Given the description of an element on the screen output the (x, y) to click on. 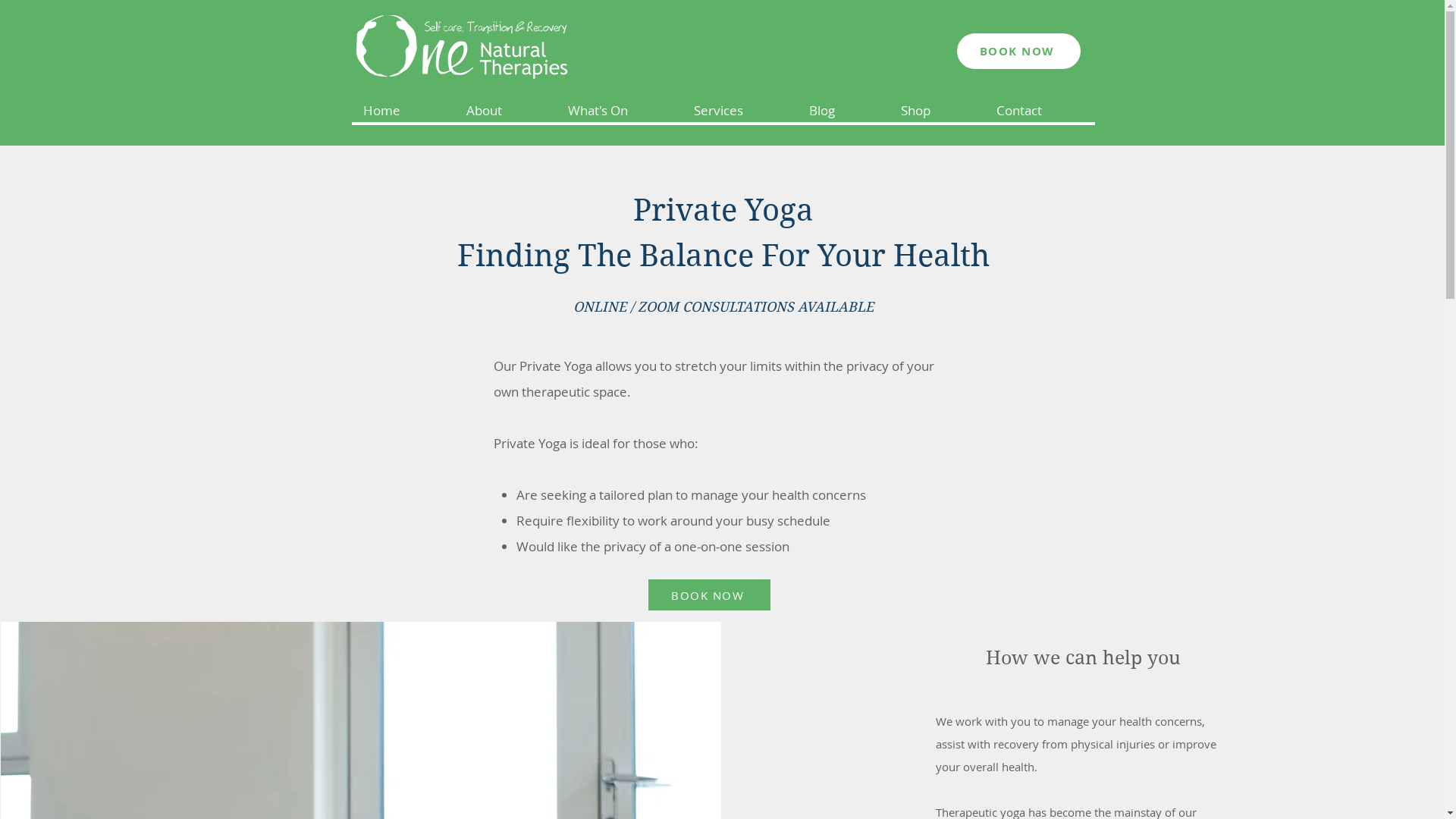
BOOK NOW Element type: text (708, 594)
What's On Element type: text (617, 110)
Contact Element type: text (1039, 110)
Home Element type: text (402, 110)
About Element type: text (504, 110)
Blog Element type: text (842, 110)
BOOK NOW Element type: text (1018, 51)
Shop Element type: text (936, 110)
